Given the description of an element on the screen output the (x, y) to click on. 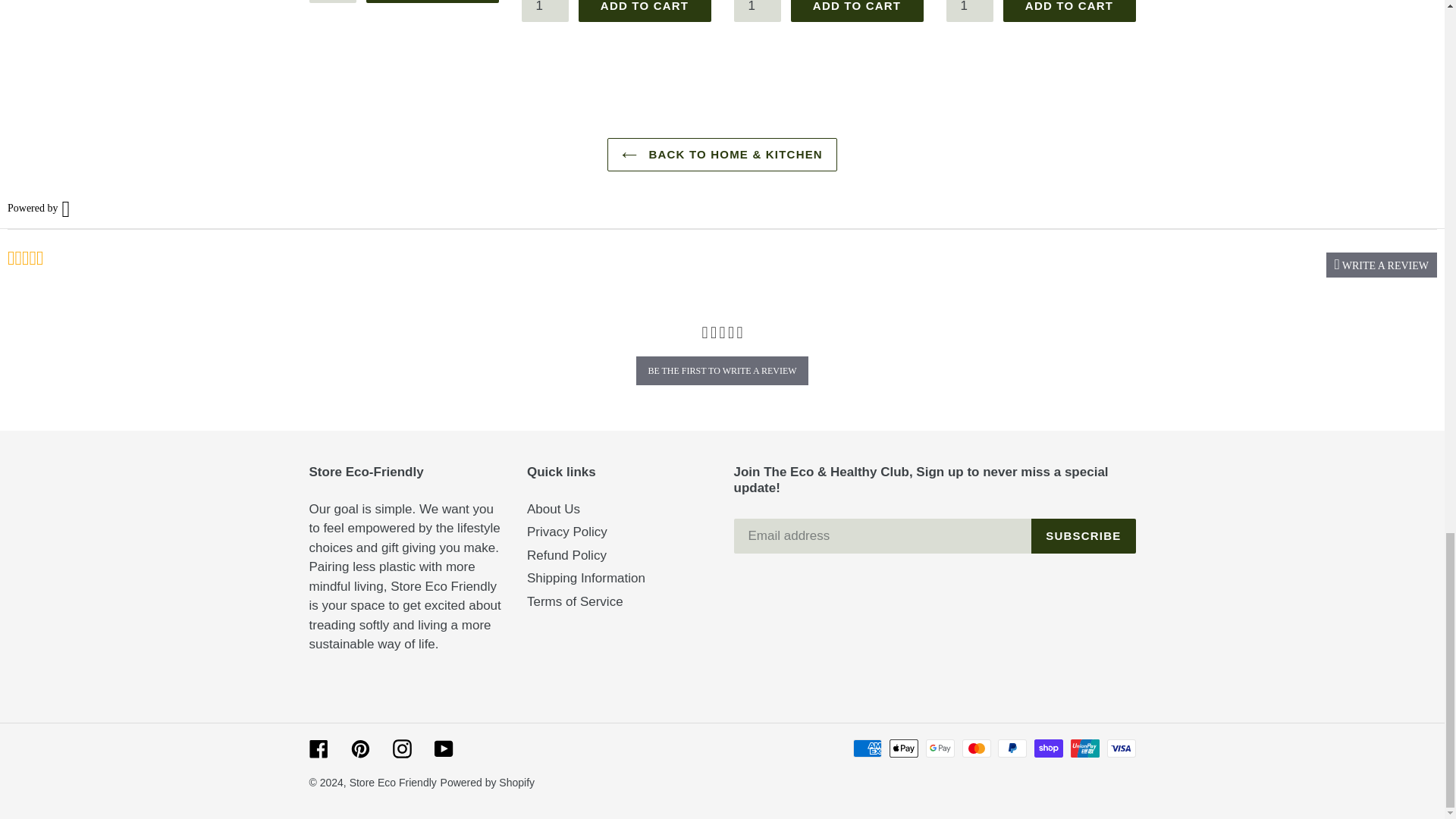
Add to cart (856, 11)
1 (332, 1)
1 (757, 11)
1 (545, 11)
1 (970, 11)
Add to cart (644, 11)
Add to cart (431, 1)
Add to cart (1069, 11)
